Given the description of an element on the screen output the (x, y) to click on. 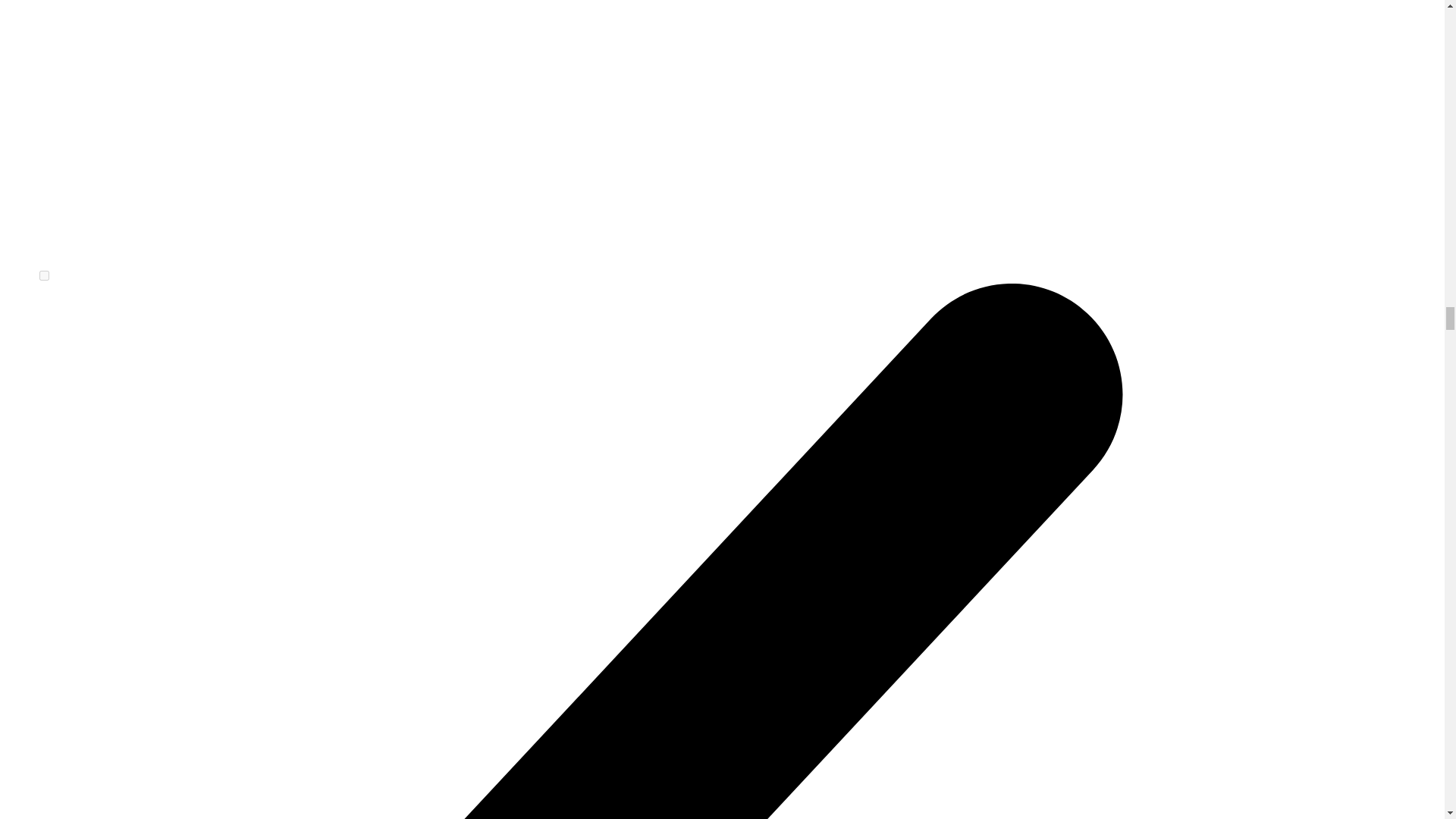
on (44, 275)
